Given the description of an element on the screen output the (x, y) to click on. 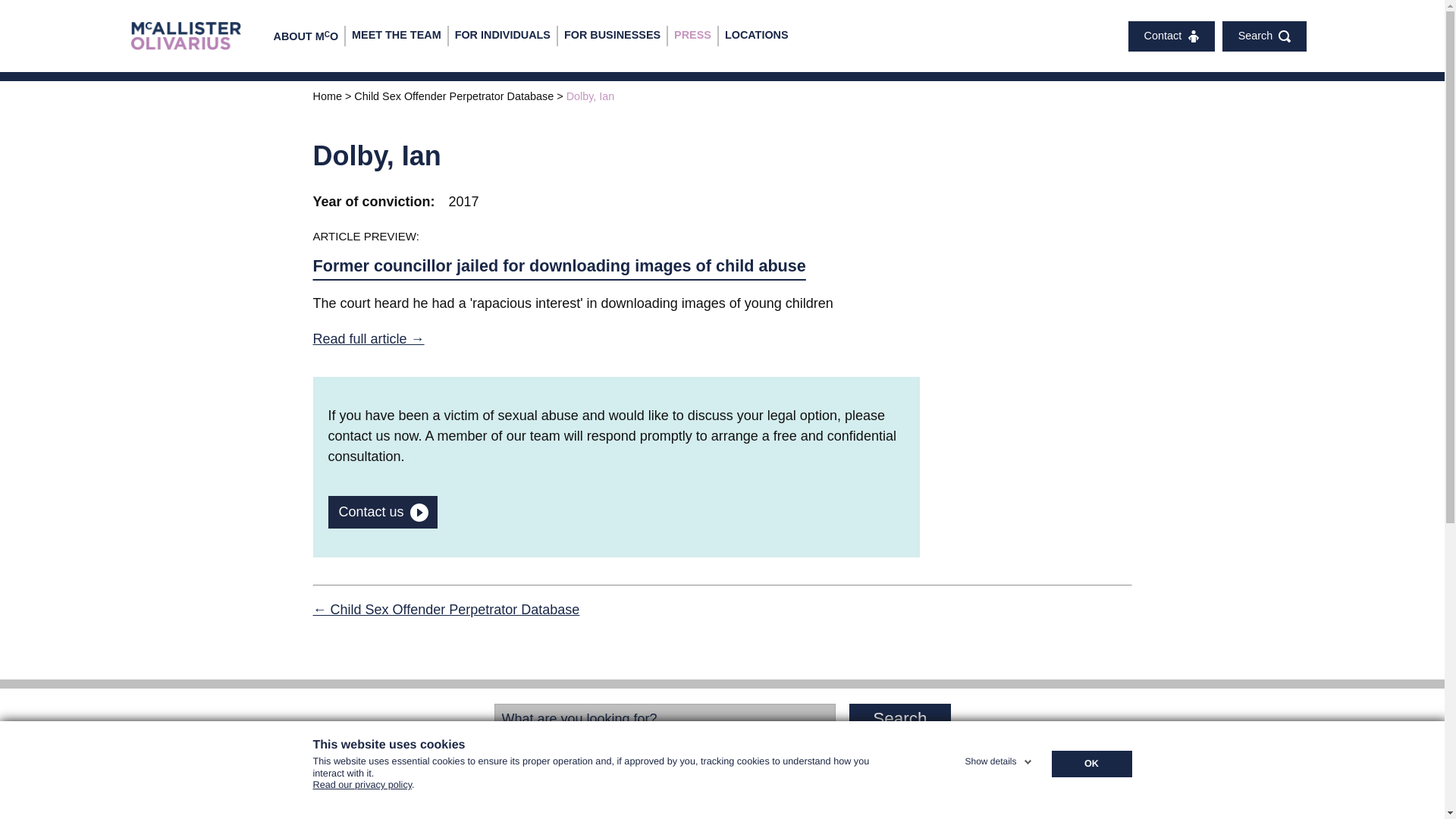
OK (1091, 764)
Read our privacy policy (362, 790)
Search (899, 718)
Show details (998, 759)
